Given the description of an element on the screen output the (x, y) to click on. 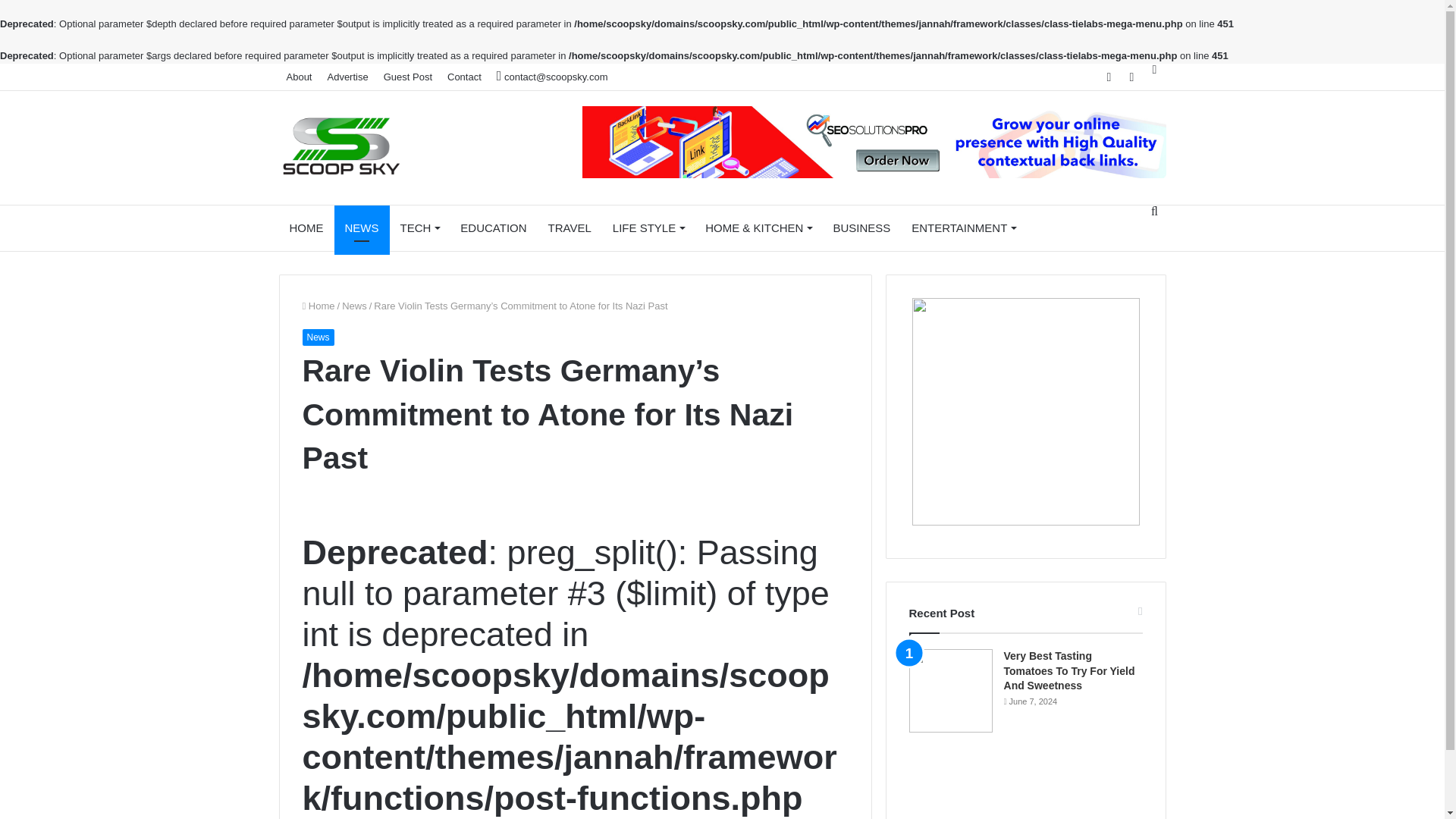
About (299, 76)
BUSINESS (861, 227)
TRAVEL (569, 227)
Sidebar (1154, 69)
Scoopsky (341, 147)
HOME (306, 227)
Guest Post (407, 76)
LIFE STYLE (648, 227)
Advertise (346, 76)
EDUCATION (493, 227)
Facebook (1109, 76)
TECH (419, 227)
Twitter (1131, 76)
Contact (464, 76)
ENTERTAINMENT (963, 227)
